Given the description of an element on the screen output the (x, y) to click on. 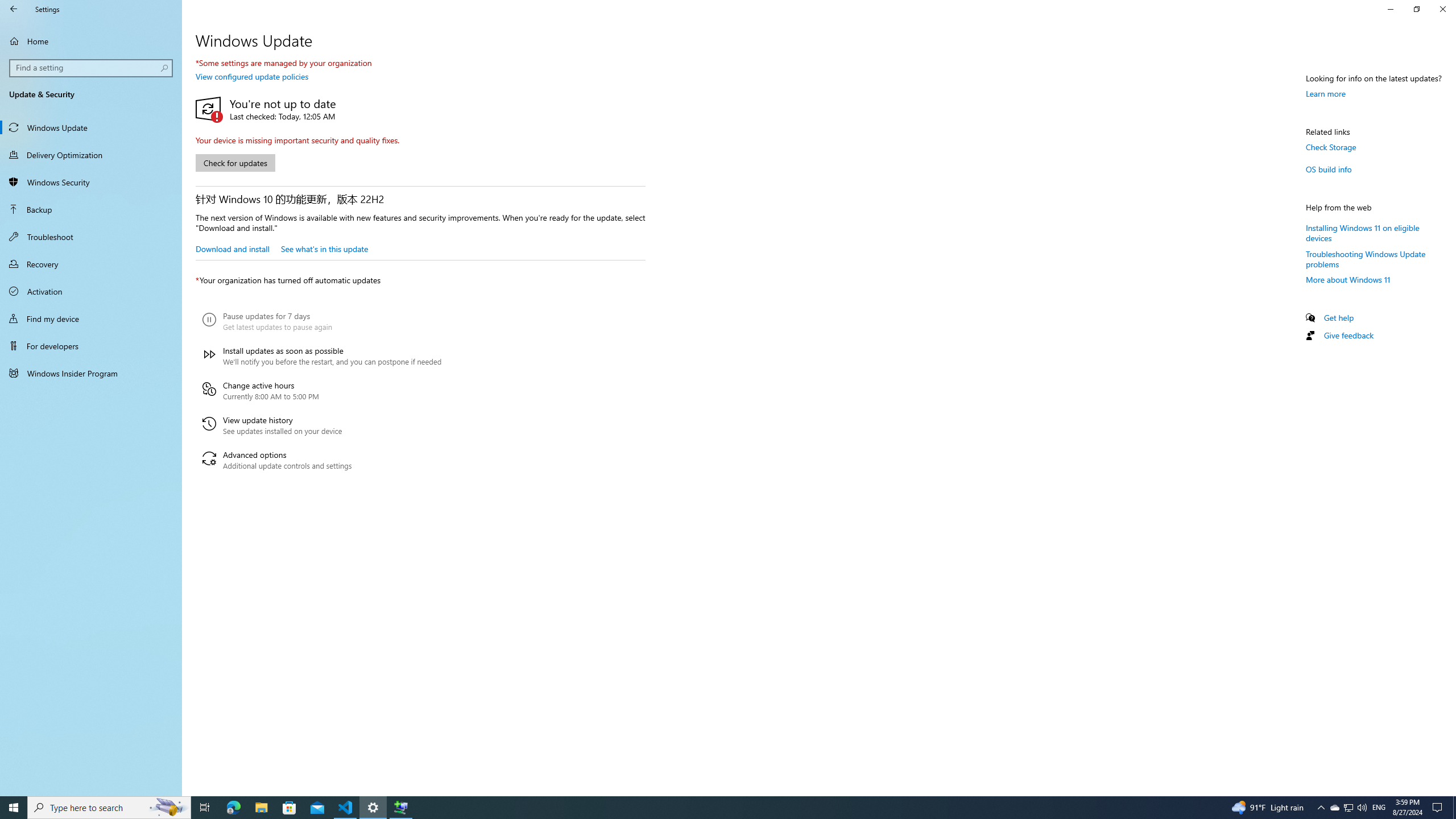
Windows Update (91, 126)
Give feedback (1348, 335)
Troubleshooting Windows Update problems (1365, 258)
See what's in this update (324, 248)
Running applications (706, 807)
